Given the description of an element on the screen output the (x, y) to click on. 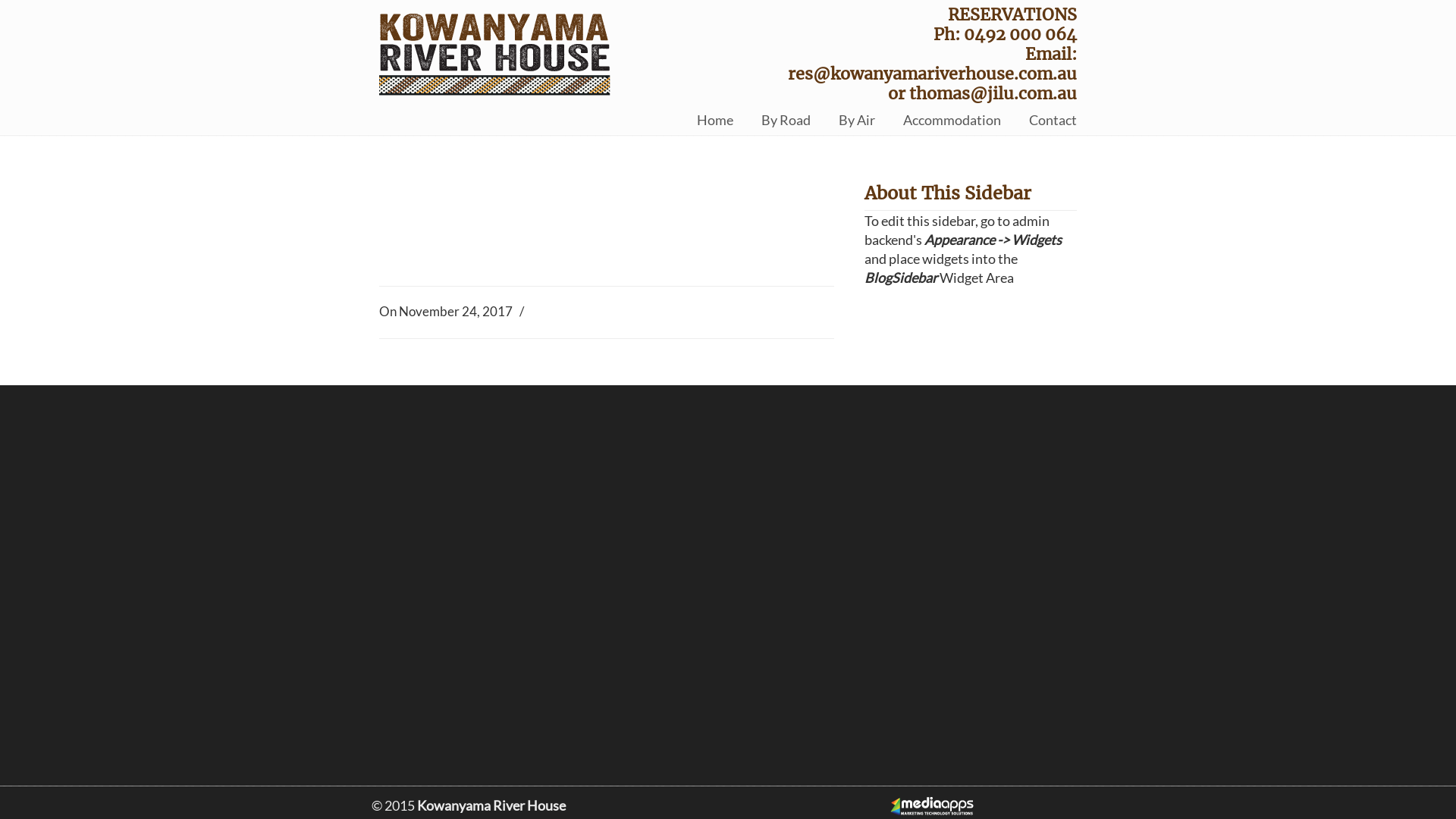
Contact Element type: text (1052, 119)
Accommodation Element type: text (952, 119)
Home Element type: text (714, 119)
Kowanyama Guest House Accommodation Element type: text (530, 49)
By Air Element type: text (856, 119)
By Road Element type: text (785, 119)
